Given the description of an element on the screen output the (x, y) to click on. 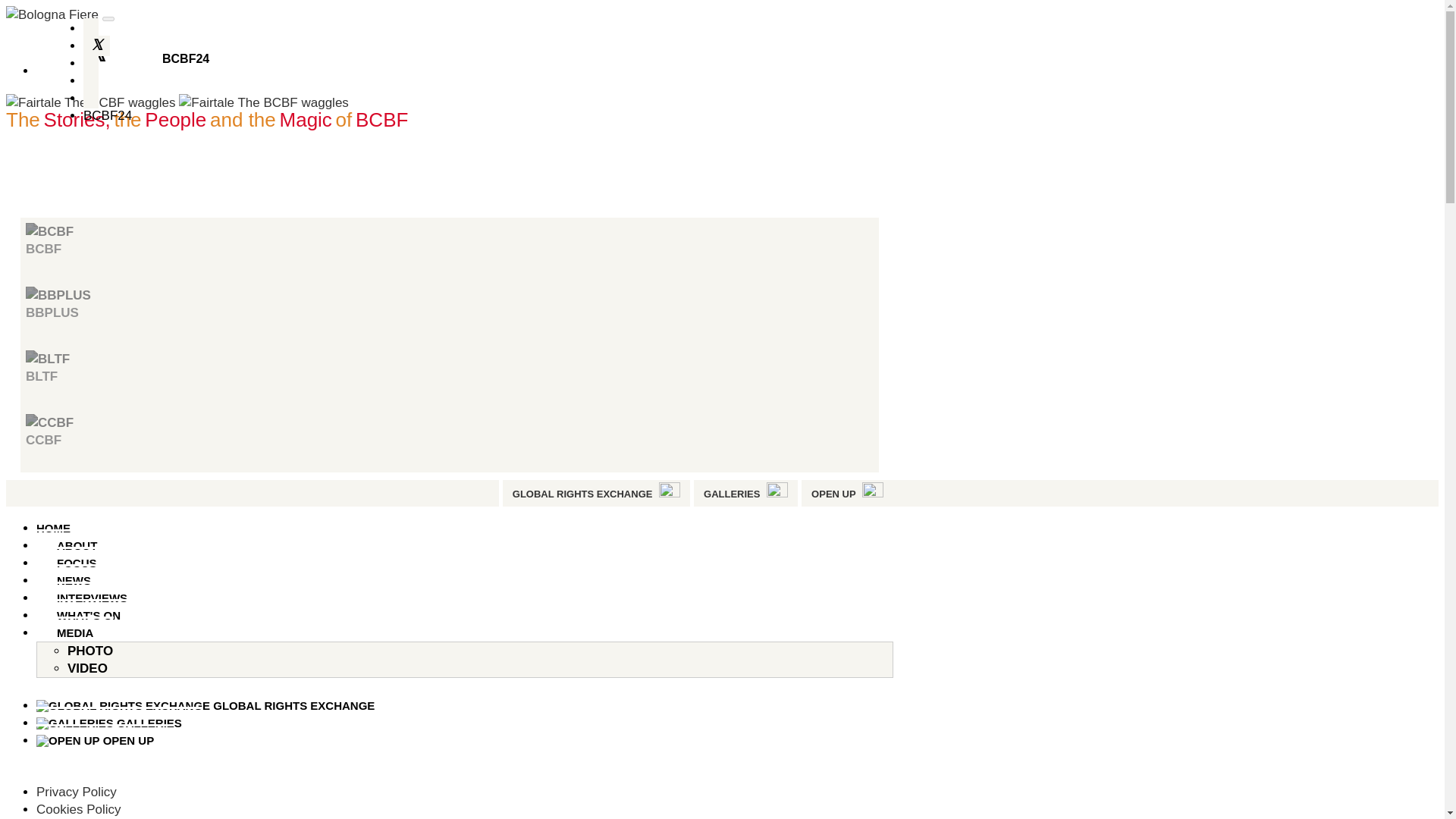
NEWS (74, 579)
BBPLUS (58, 294)
GLOBAL RIGHTS EXCHANGE (582, 493)
GALLERIES (731, 493)
BLTF (47, 358)
FOCUS (76, 562)
Privacy Policy (76, 791)
INTERVIEWS (92, 596)
BLTF (449, 376)
OPEN UP (833, 493)
GLOBAL RIGHTS EXCHANGE (215, 704)
OPEN UP (105, 738)
PHOTO (89, 650)
CCBF (449, 440)
OPEN UP (833, 493)
